Given the description of an element on the screen output the (x, y) to click on. 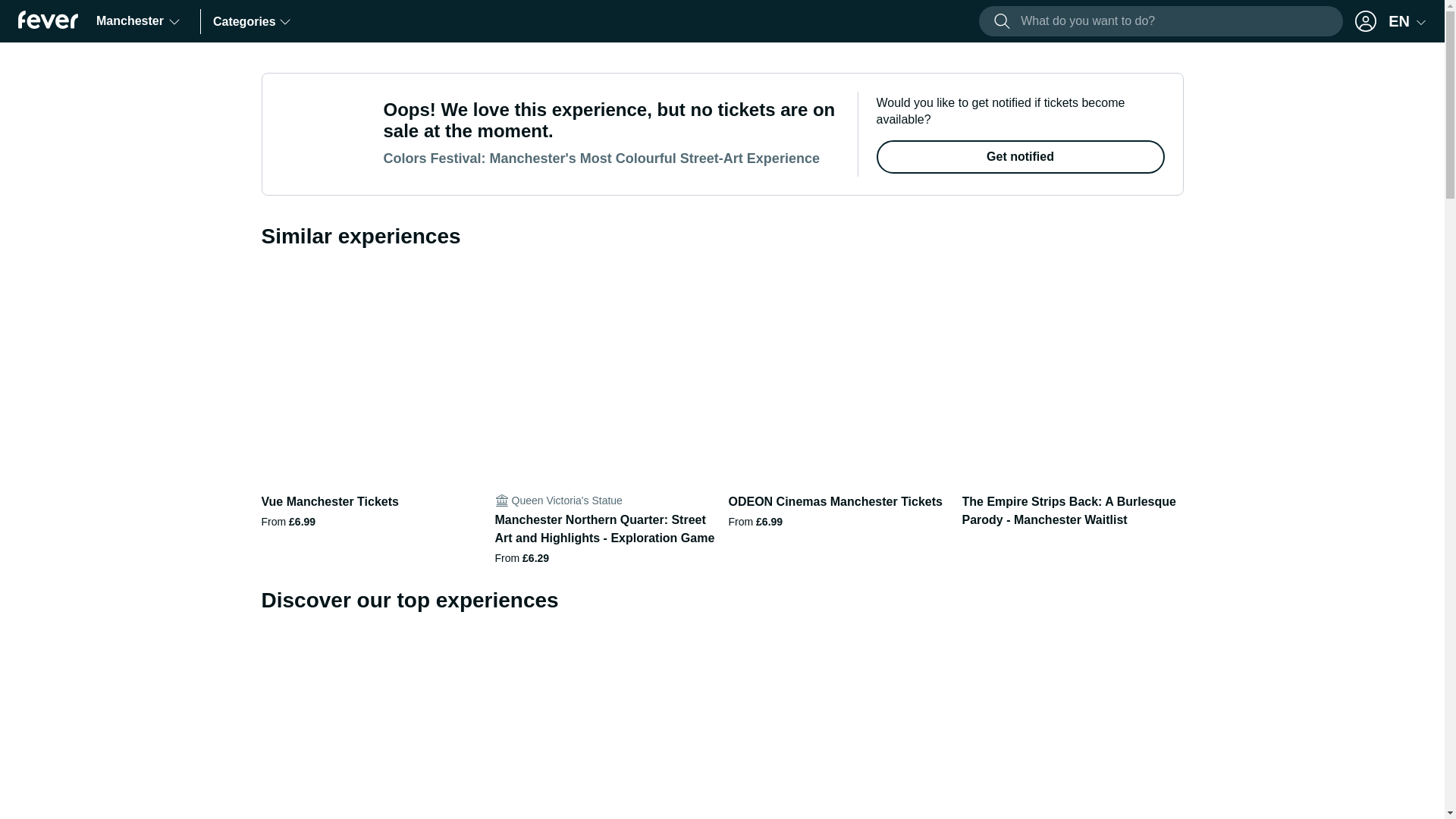
Manchester (139, 21)
Candlelight: A Tribute to Coldplay - Birmingham (838, 724)
Candlelight: A Tribute to Coldplay - Nottingham (1071, 724)
Viennese Christmas Spectacular - Birmingham (605, 724)
The Monster - CBS Arena - Coventry (1305, 724)
